Given the description of an element on the screen output the (x, y) to click on. 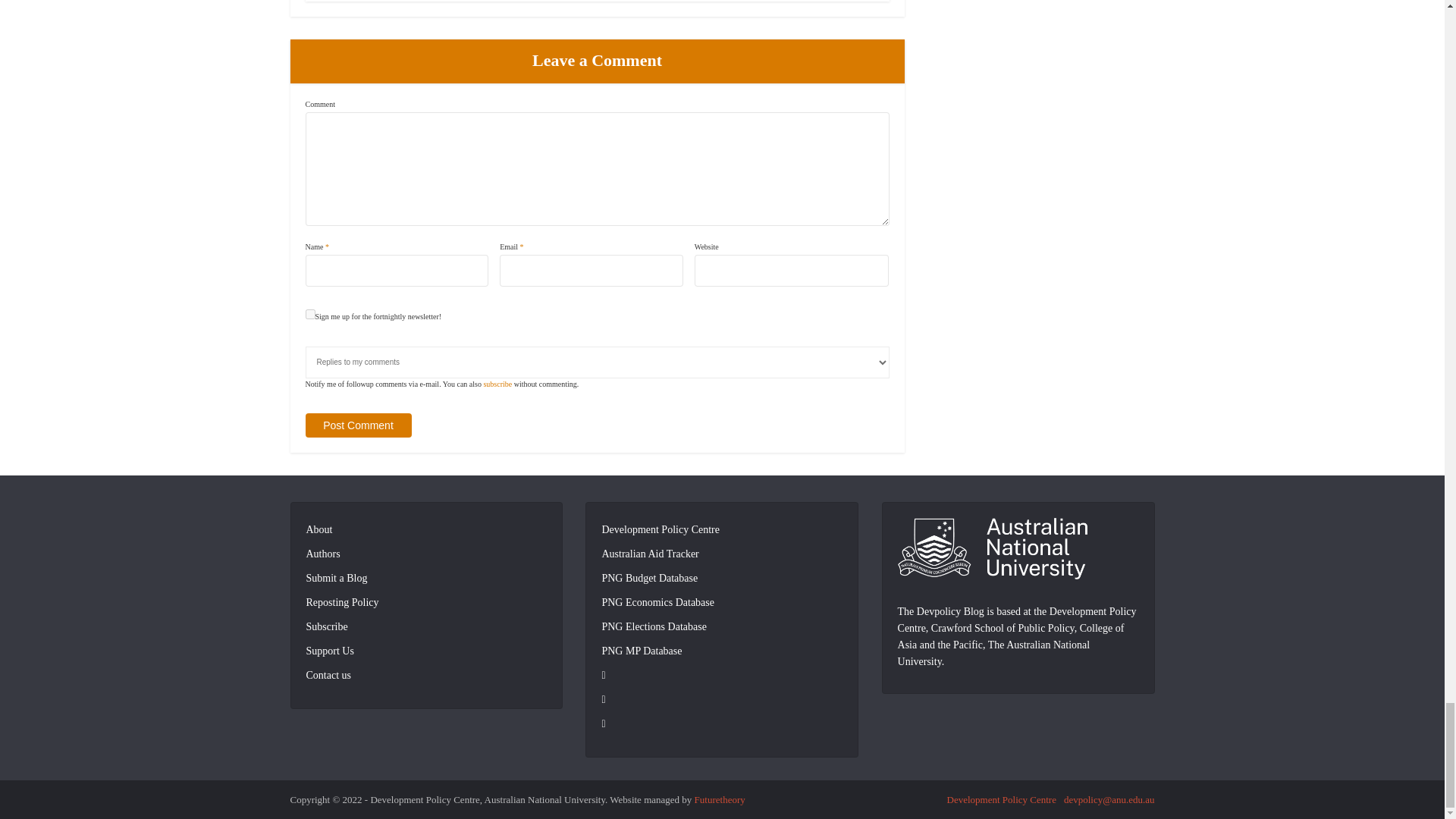
Post Comment (357, 425)
1 (309, 314)
